Given the description of an element on the screen output the (x, y) to click on. 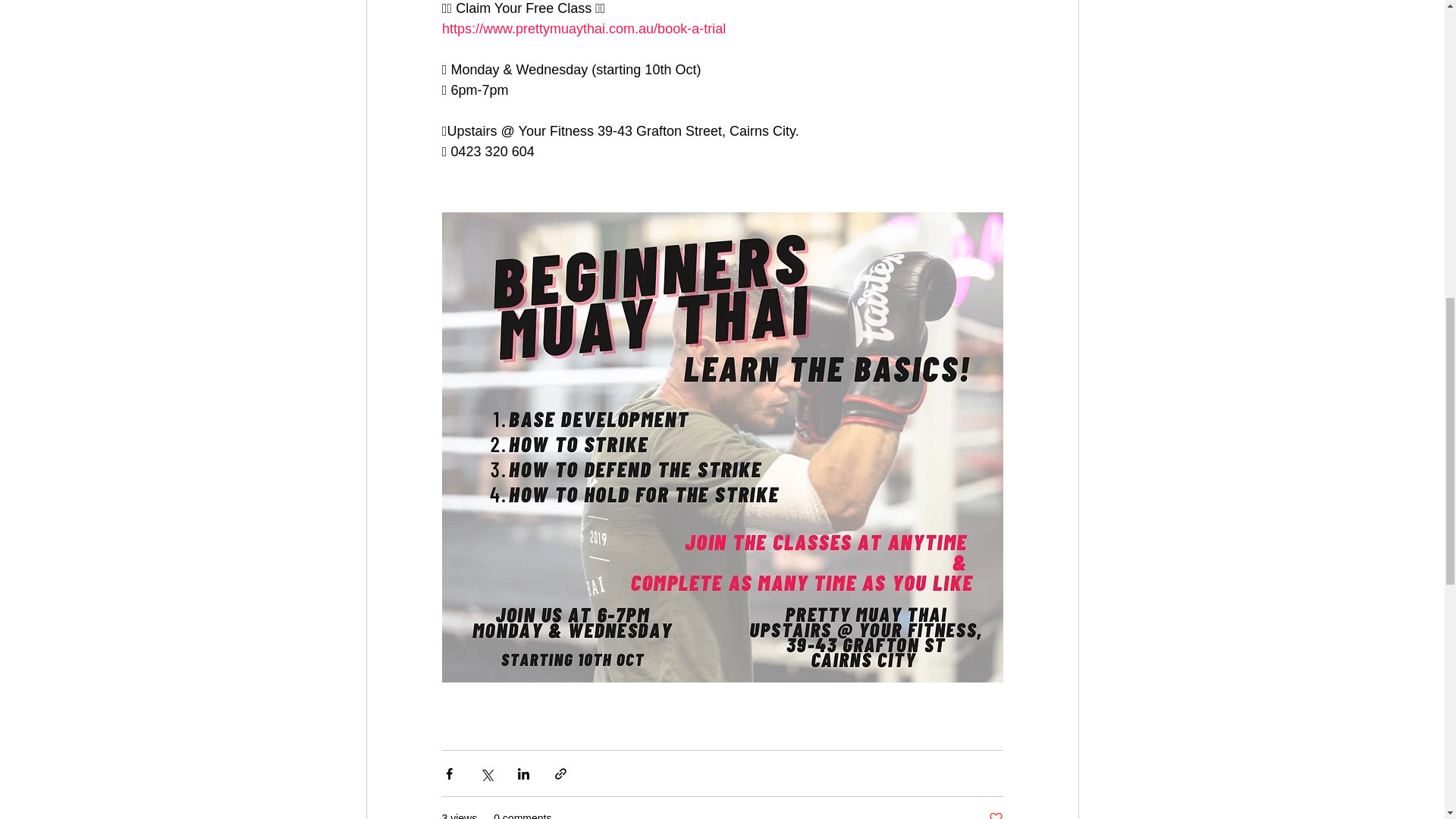
Post not marked as liked (995, 814)
